Given the description of an element on the screen output the (x, y) to click on. 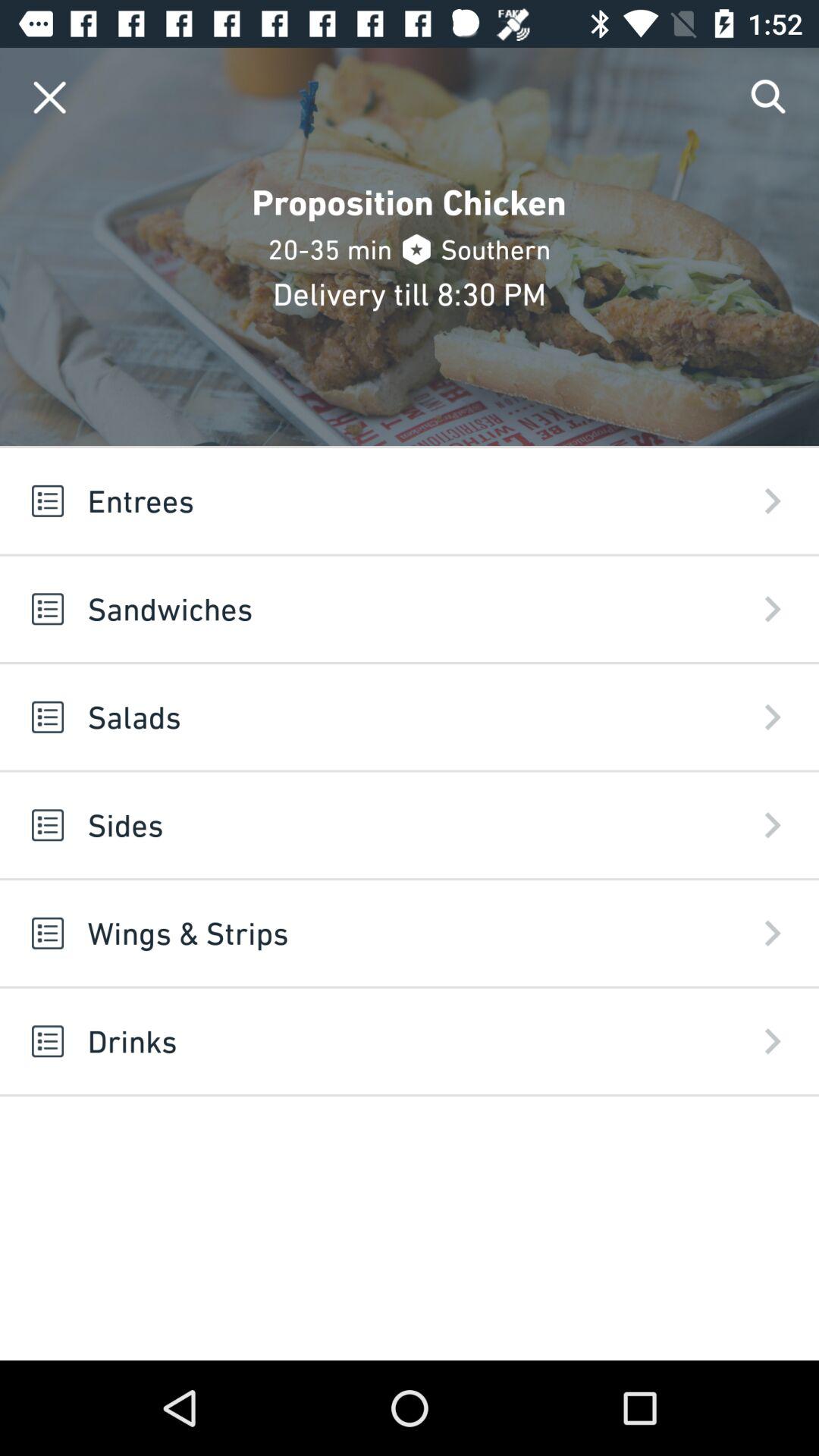
search button (769, 97)
